Given the description of an element on the screen output the (x, y) to click on. 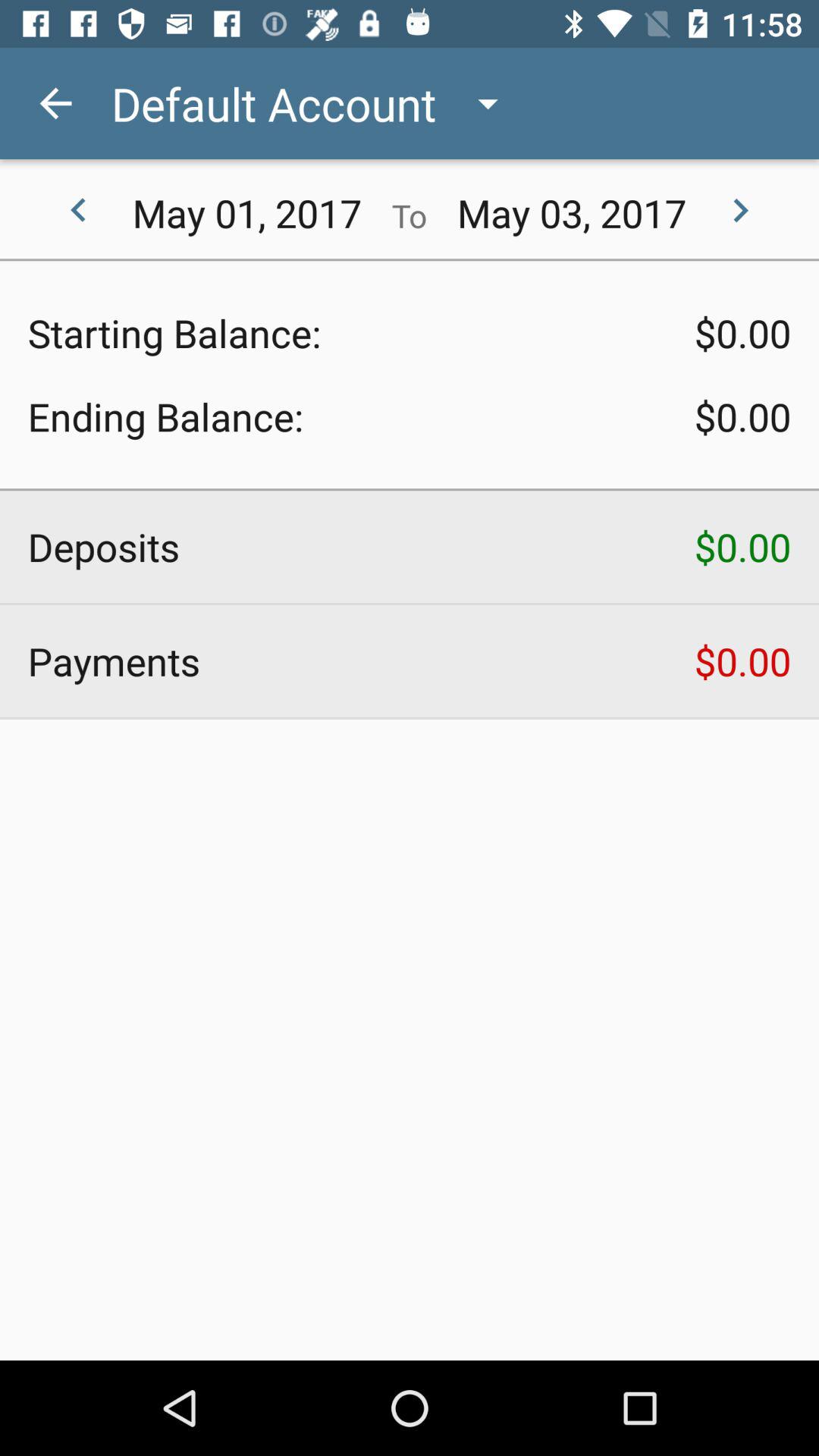
select item to the left of default account (55, 103)
